Given the description of an element on the screen output the (x, y) to click on. 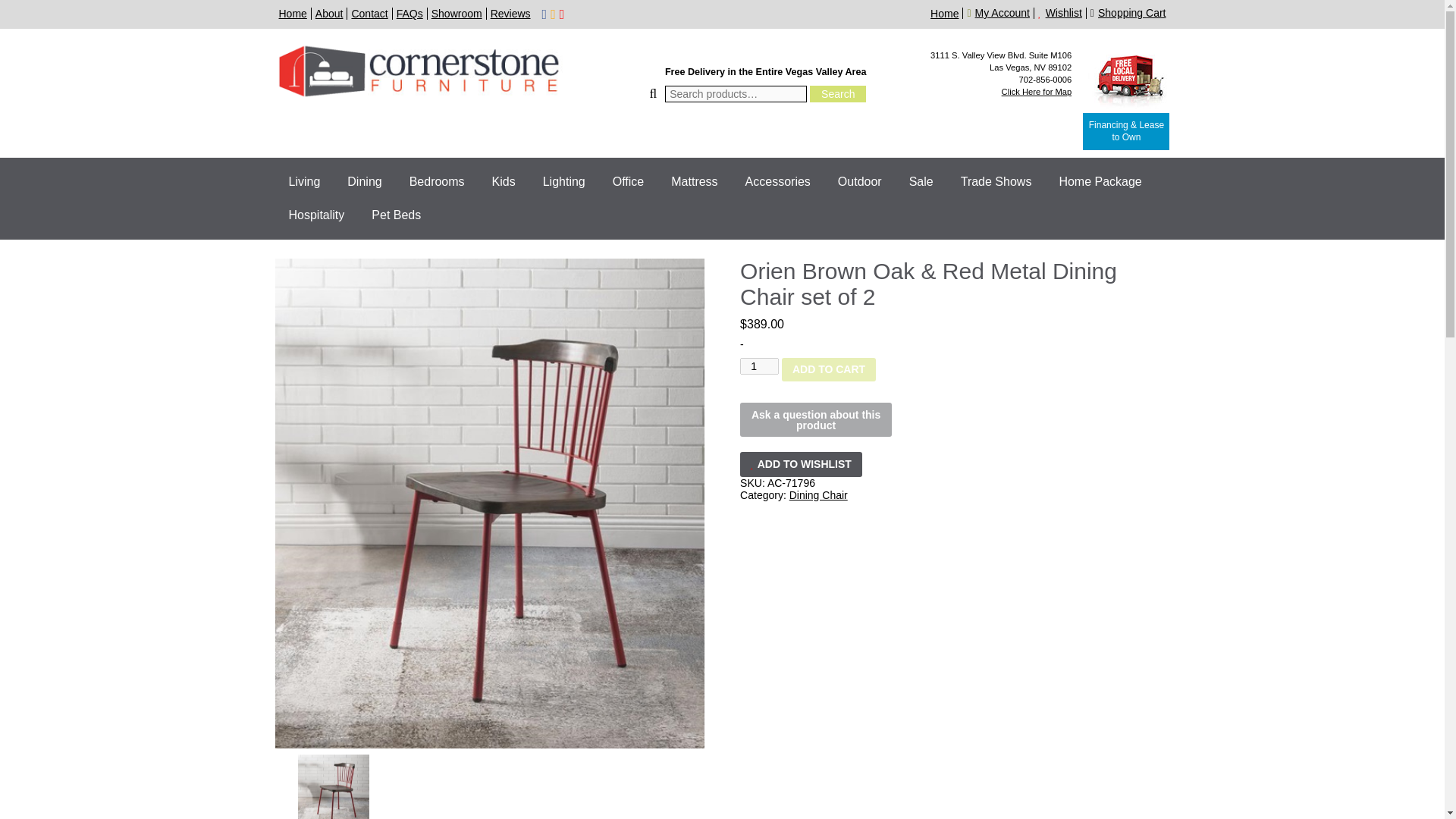
Kids (504, 182)
Search (837, 93)
Living (304, 182)
1 (758, 365)
Bedrooms (437, 182)
FAQs (409, 13)
Home (944, 13)
Shopping Cart (1130, 12)
71796 (332, 786)
Showroom (455, 13)
Click Here for Map (1036, 91)
Dining (363, 182)
Home (293, 13)
About (329, 13)
Wishlist (1061, 12)
